Given the description of an element on the screen output the (x, y) to click on. 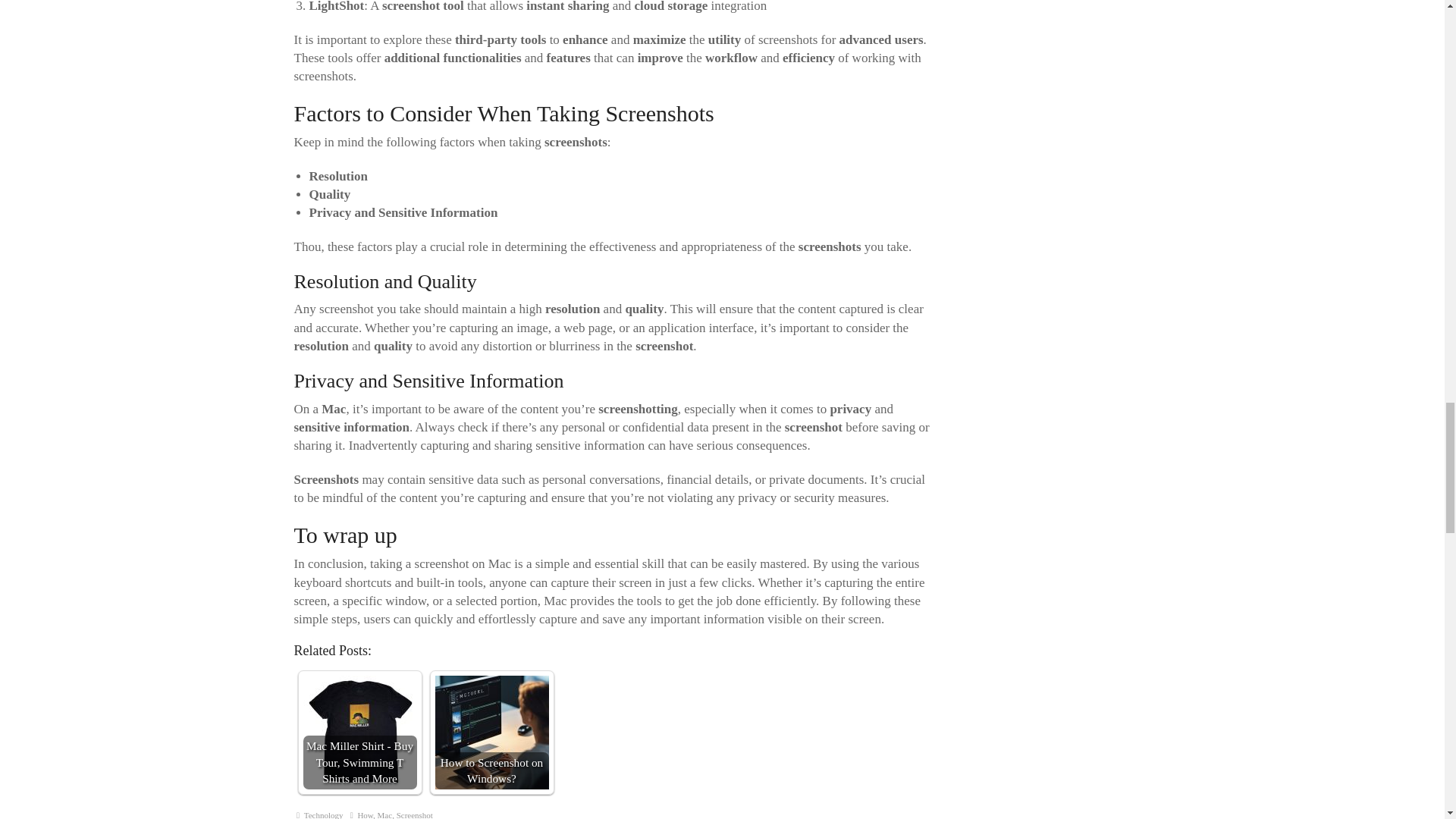
Technology (323, 814)
Screenshot (414, 814)
Mac (385, 814)
How (364, 814)
Mac Miller Shirt - Buy Tour, Swimming T Shirts and More (359, 732)
How to Screenshot on Windows? (491, 732)
